Given the description of an element on the screen output the (x, y) to click on. 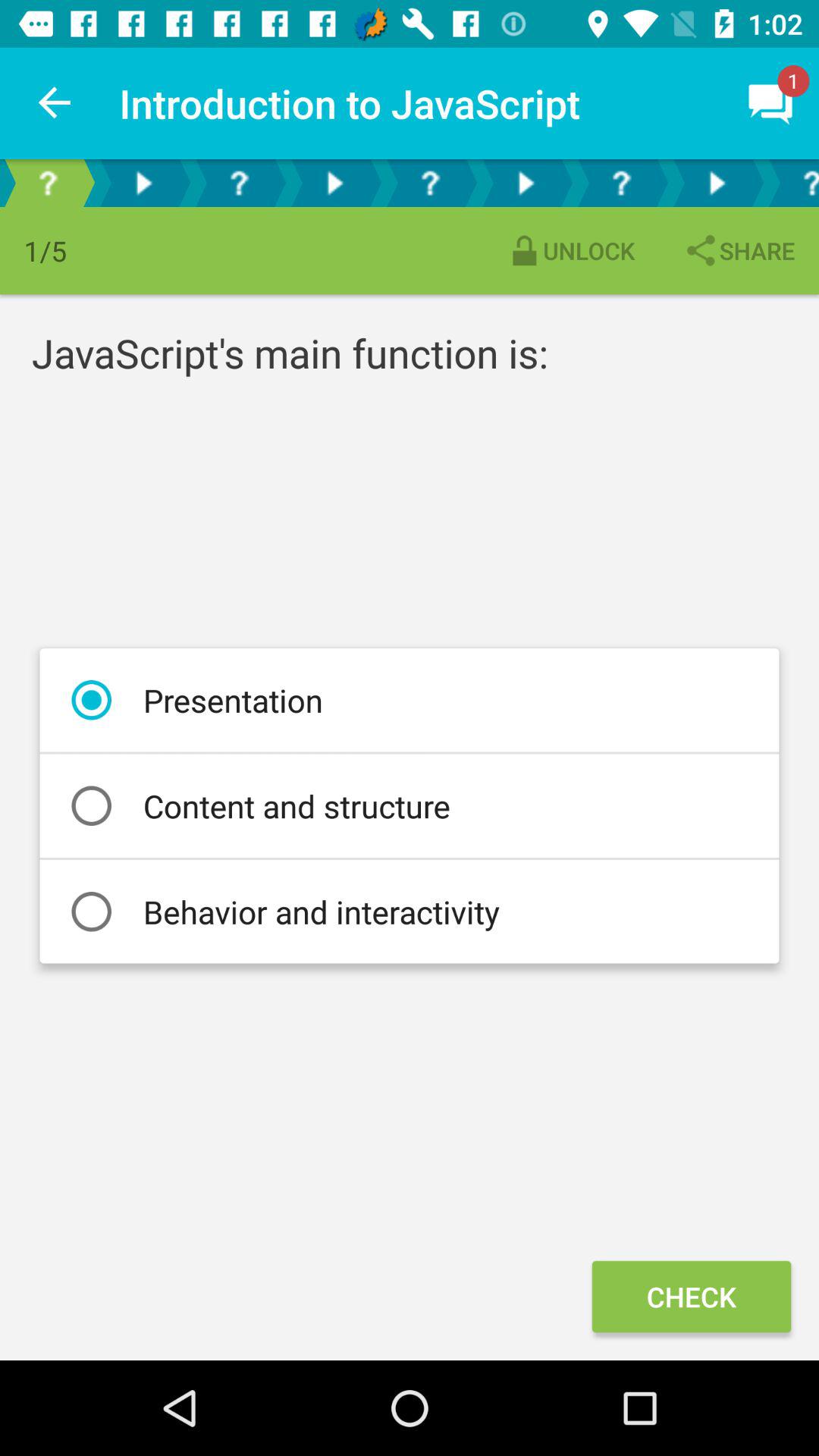
see more information (620, 183)
